Given the description of an element on the screen output the (x, y) to click on. 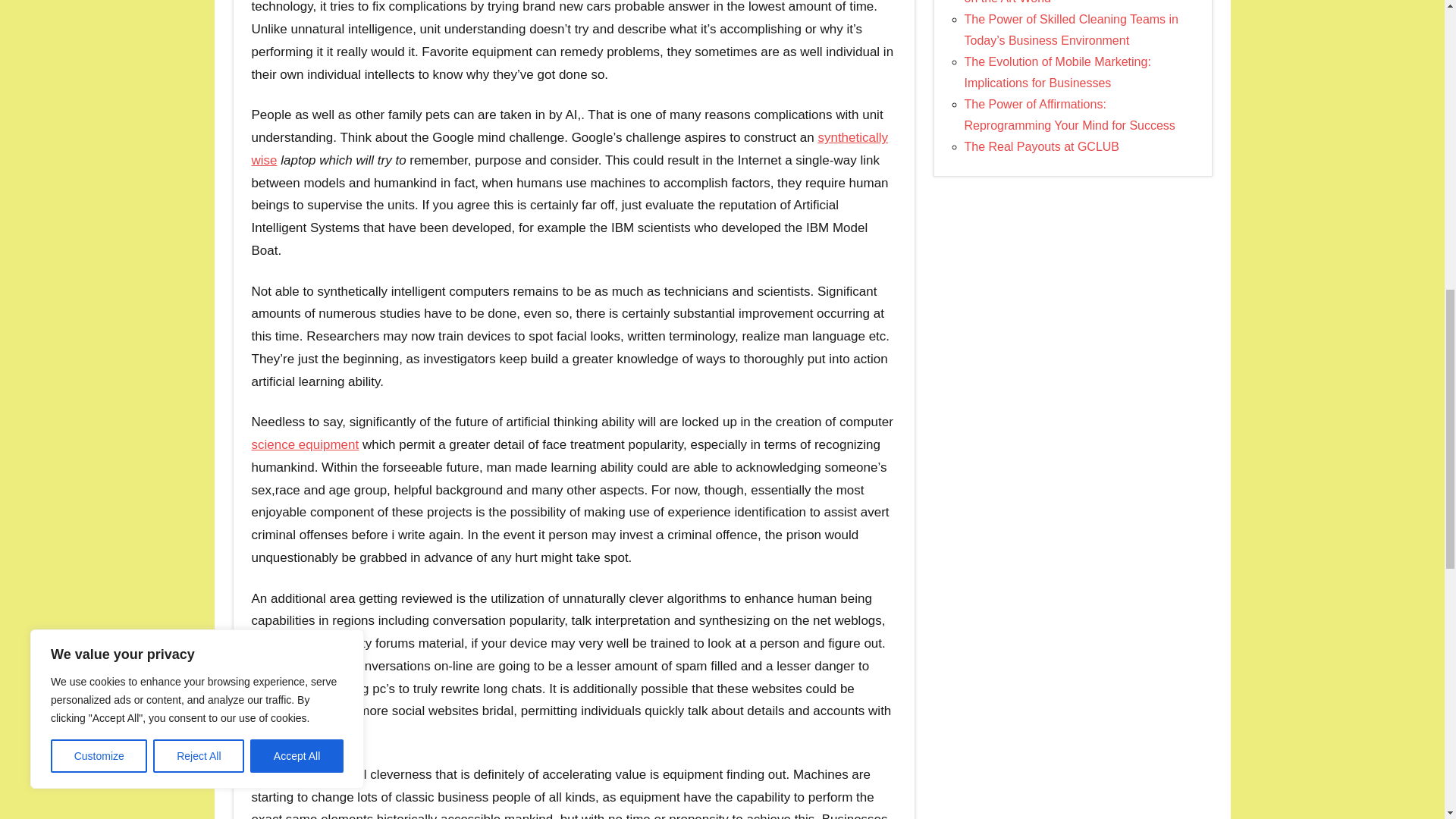
synthetically wise (569, 148)
science equipment (305, 444)
